Given the description of an element on the screen output the (x, y) to click on. 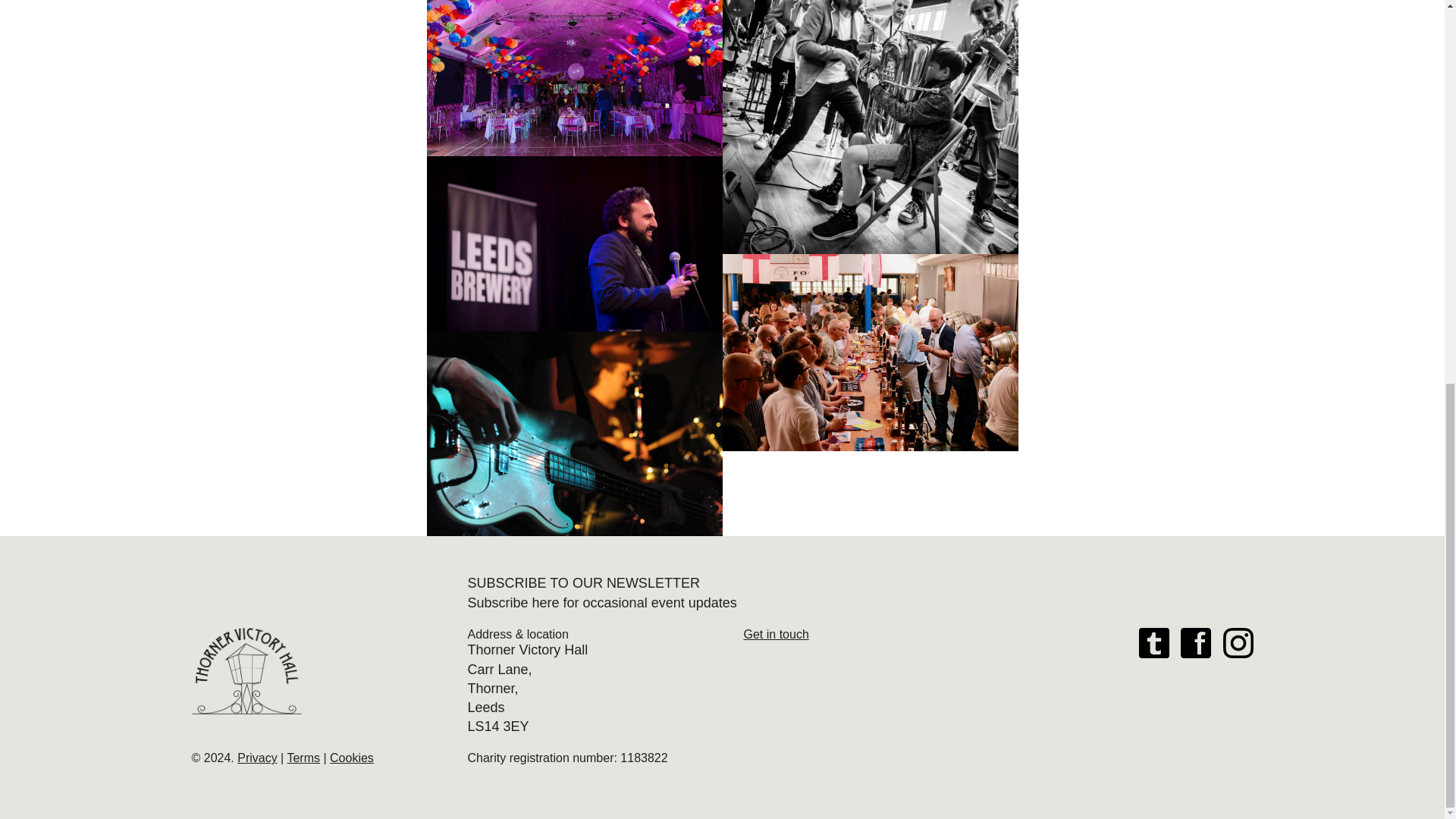
Terms (303, 757)
Subscribe here (513, 602)
Get in touch (775, 634)
Cookies (352, 757)
Privacy (256, 757)
